Given the description of an element on the screen output the (x, y) to click on. 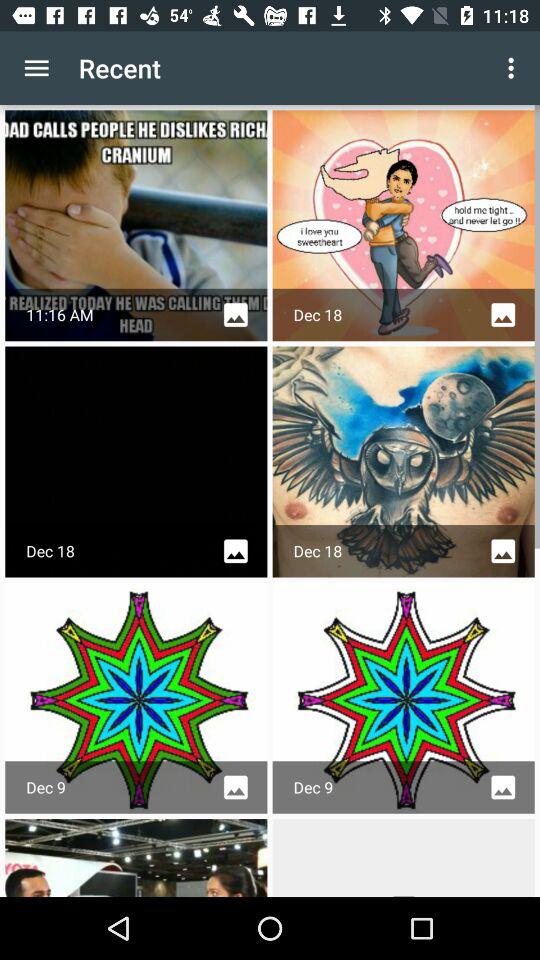
select the app to the right of the recent icon (513, 67)
